Given the description of an element on the screen output the (x, y) to click on. 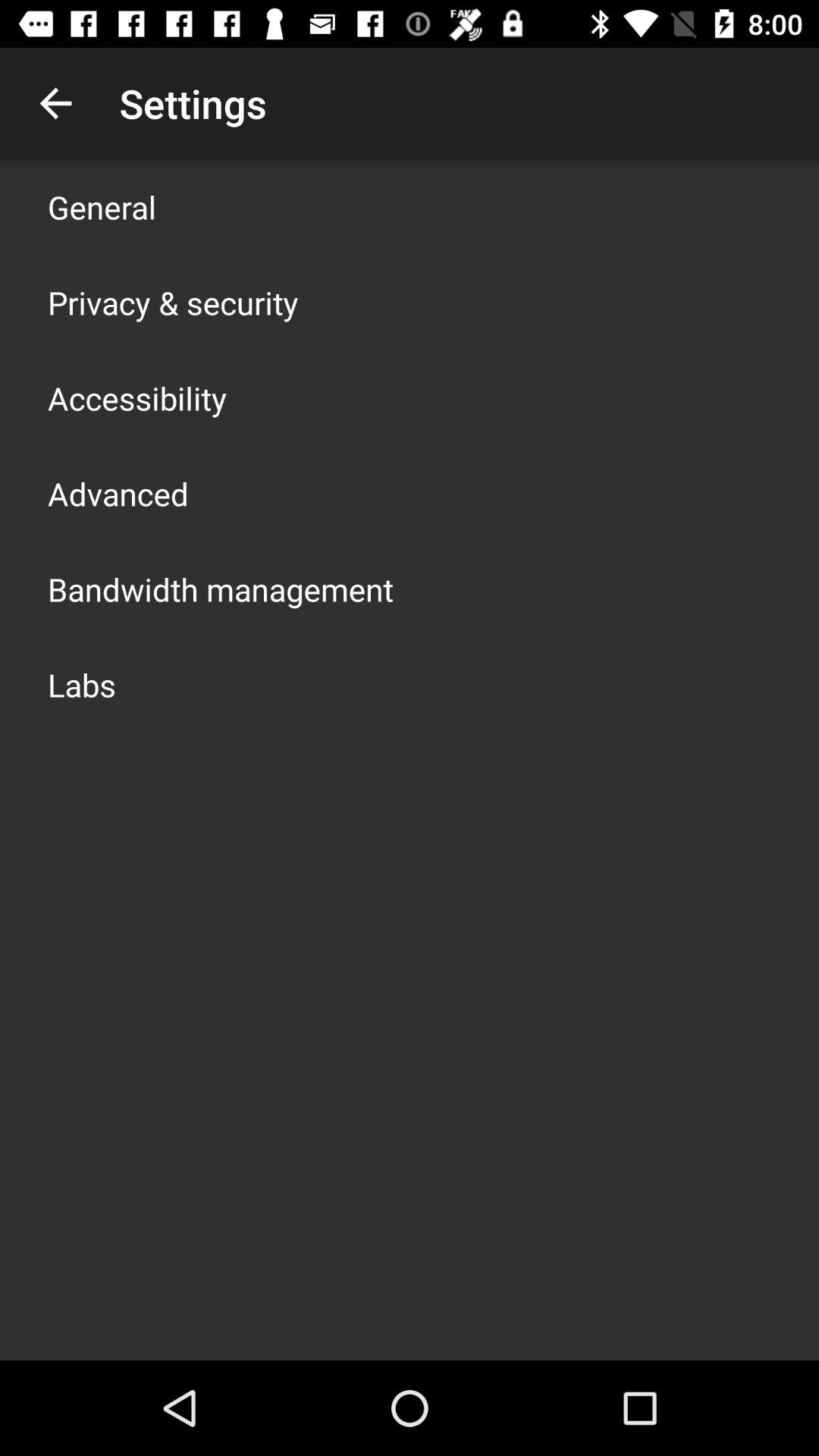
turn on the app below privacy & security item (136, 397)
